Given the description of an element on the screen output the (x, y) to click on. 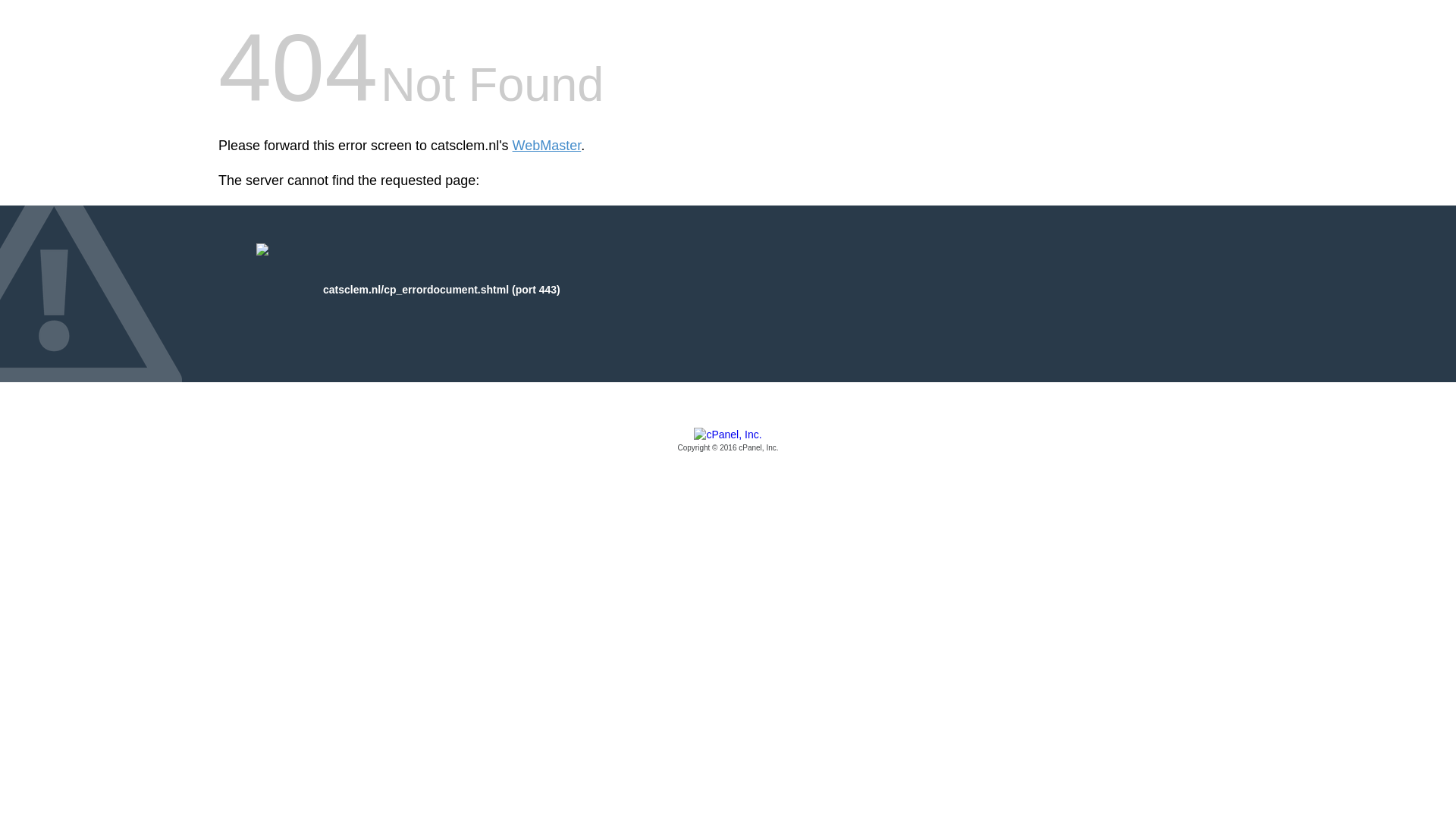
WebMaster (546, 145)
cPanel, Inc. (727, 440)
